Given the description of an element on the screen output the (x, y) to click on. 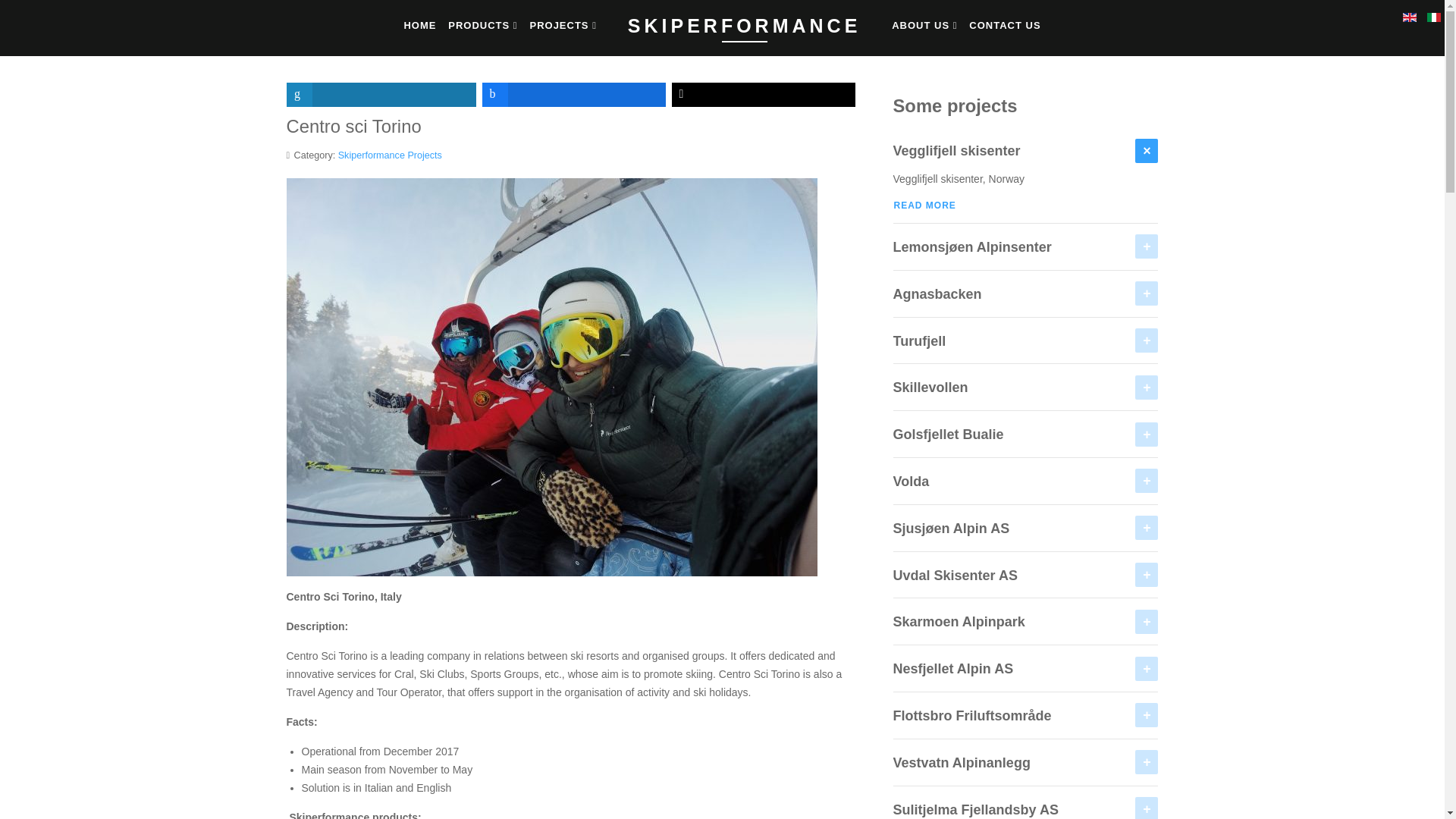
PRODUCTS (482, 24)
Centro Sci Torino, Italy (551, 376)
Italian (1433, 17)
PROJECTS (562, 24)
